Given the description of an element on the screen output the (x, y) to click on. 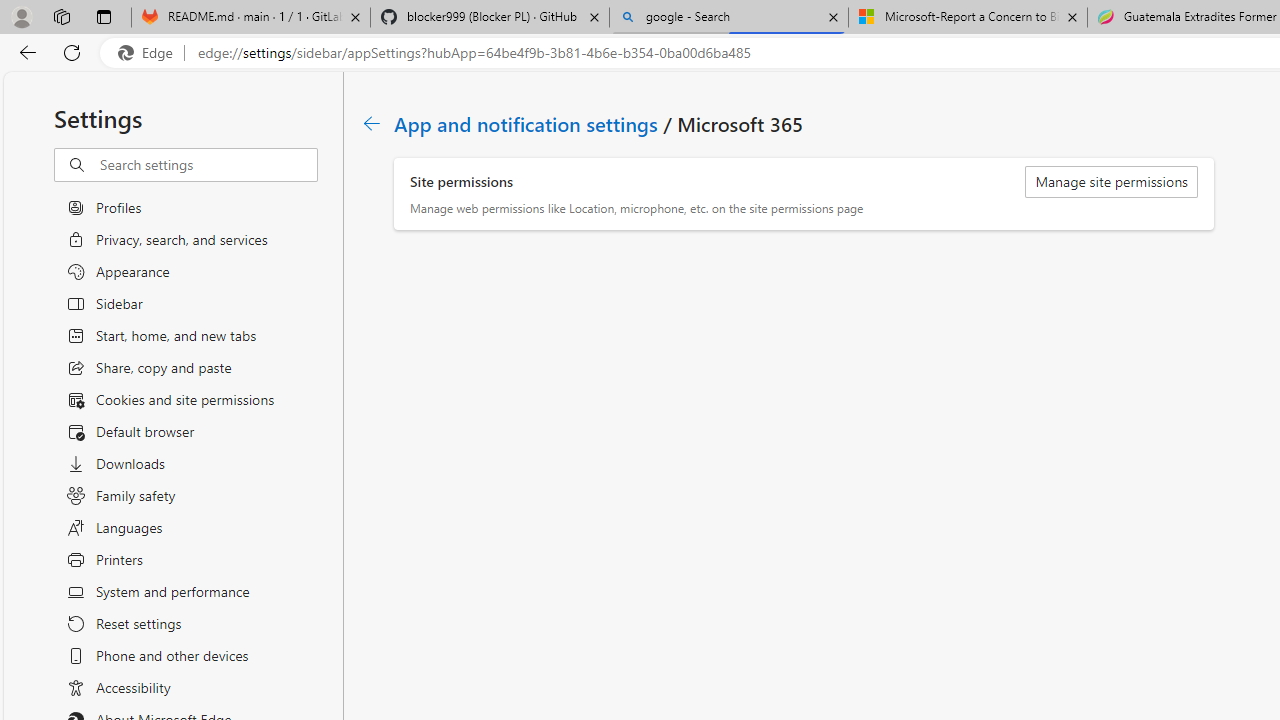
Go back to App and notification settings page. (372, 123)
